Given the description of an element on the screen output the (x, y) to click on. 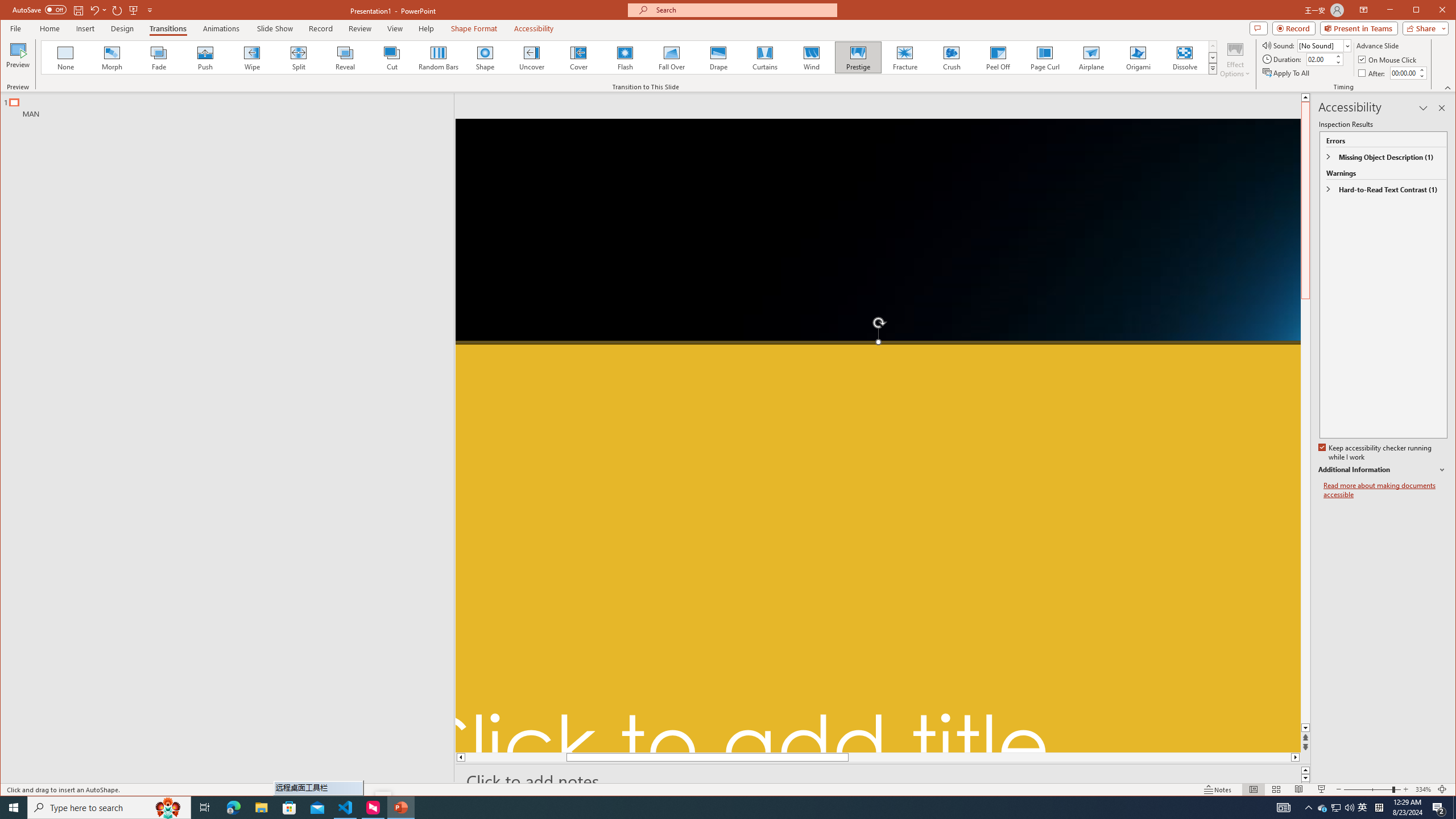
After (1403, 72)
Redo (117, 9)
Microsoft Edge (233, 807)
AutoSave (38, 9)
Transition Effects (1212, 68)
After (1372, 72)
Collapse the Ribbon (1448, 87)
Search highlights icon opens search home window (1335, 807)
Maximize (167, 807)
Wind (1432, 11)
Microsoft Store (810, 57)
PowerPoint - 1 running window (289, 807)
